Given the description of an element on the screen output the (x, y) to click on. 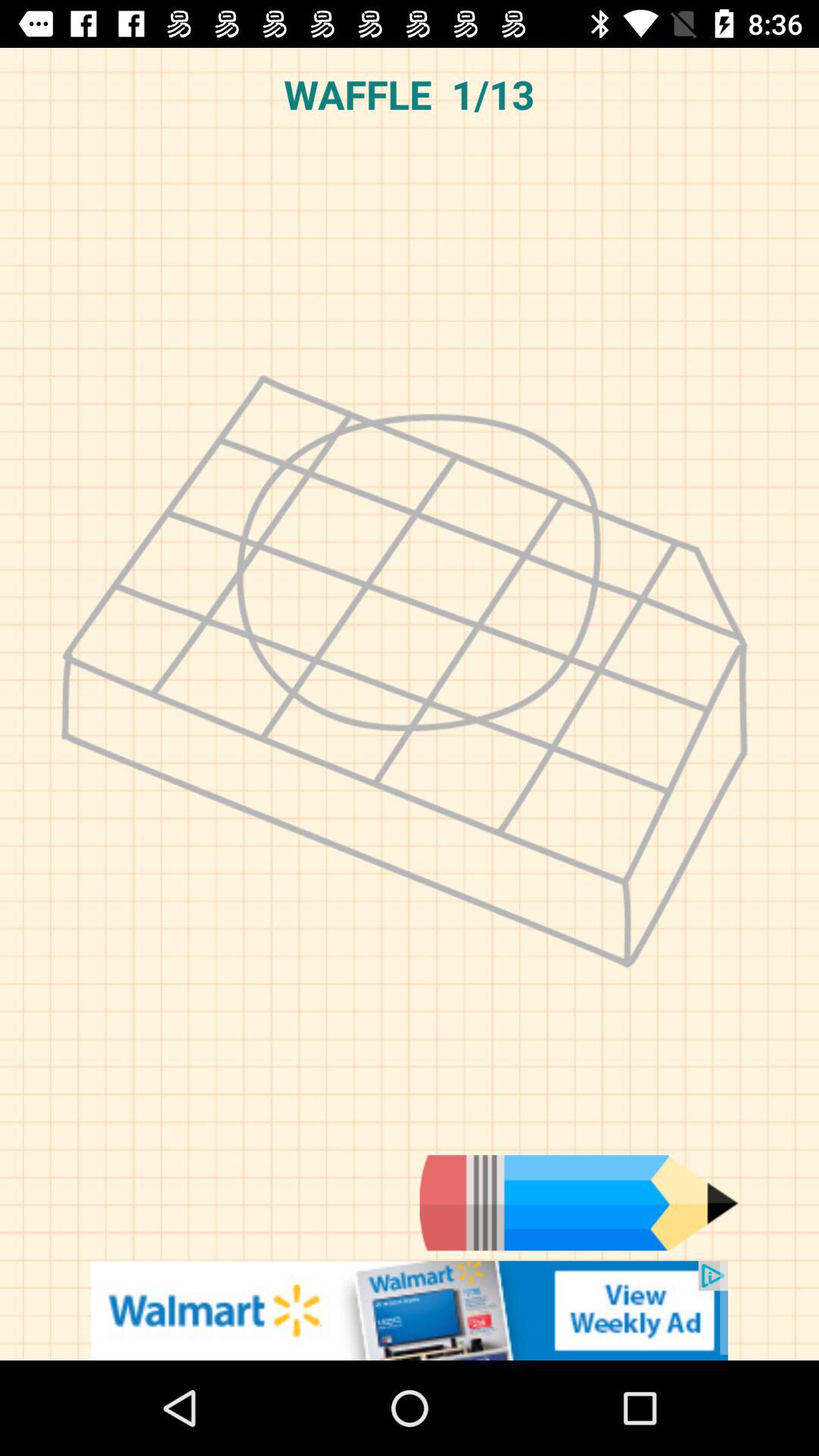
advertisement box (409, 1310)
